Given the description of an element on the screen output the (x, y) to click on. 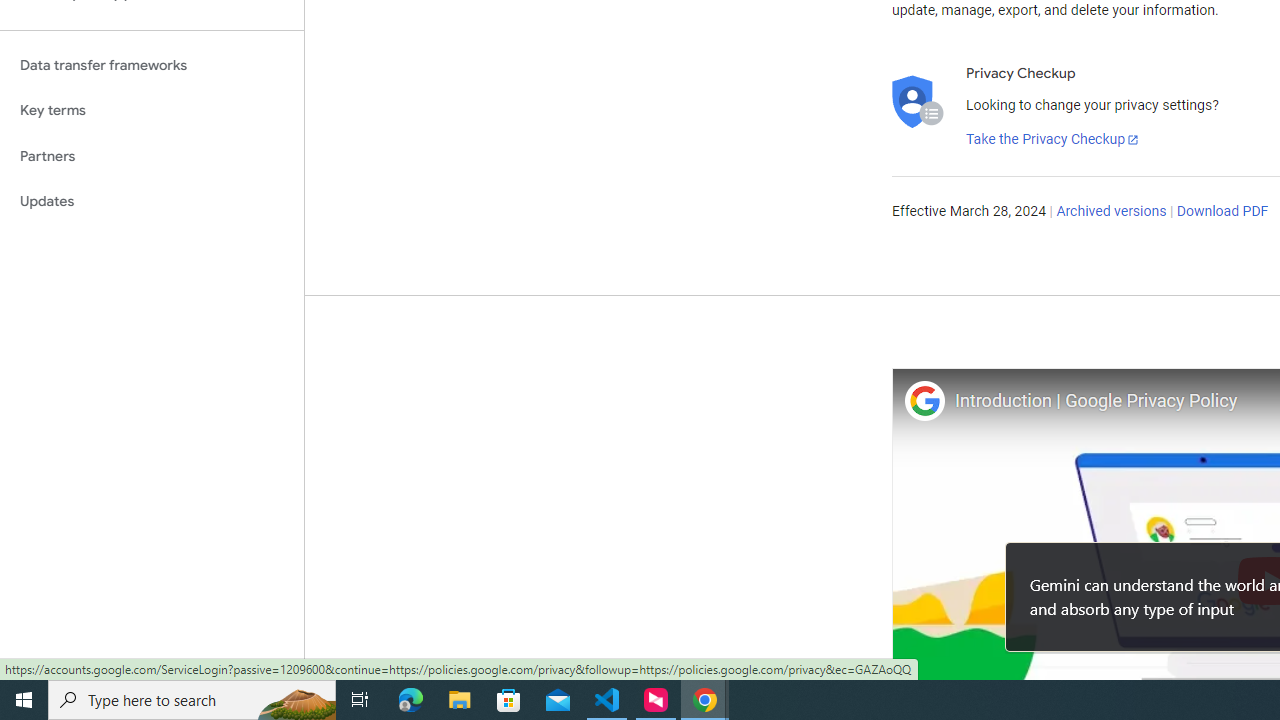
Photo image of Google (924, 400)
Partners (152, 156)
Key terms (152, 110)
Data transfer frameworks (152, 65)
Download PDF (1222, 212)
Take the Privacy Checkup (1053, 140)
Archived versions (1111, 212)
Updates (152, 201)
